Given the description of an element on the screen output the (x, y) to click on. 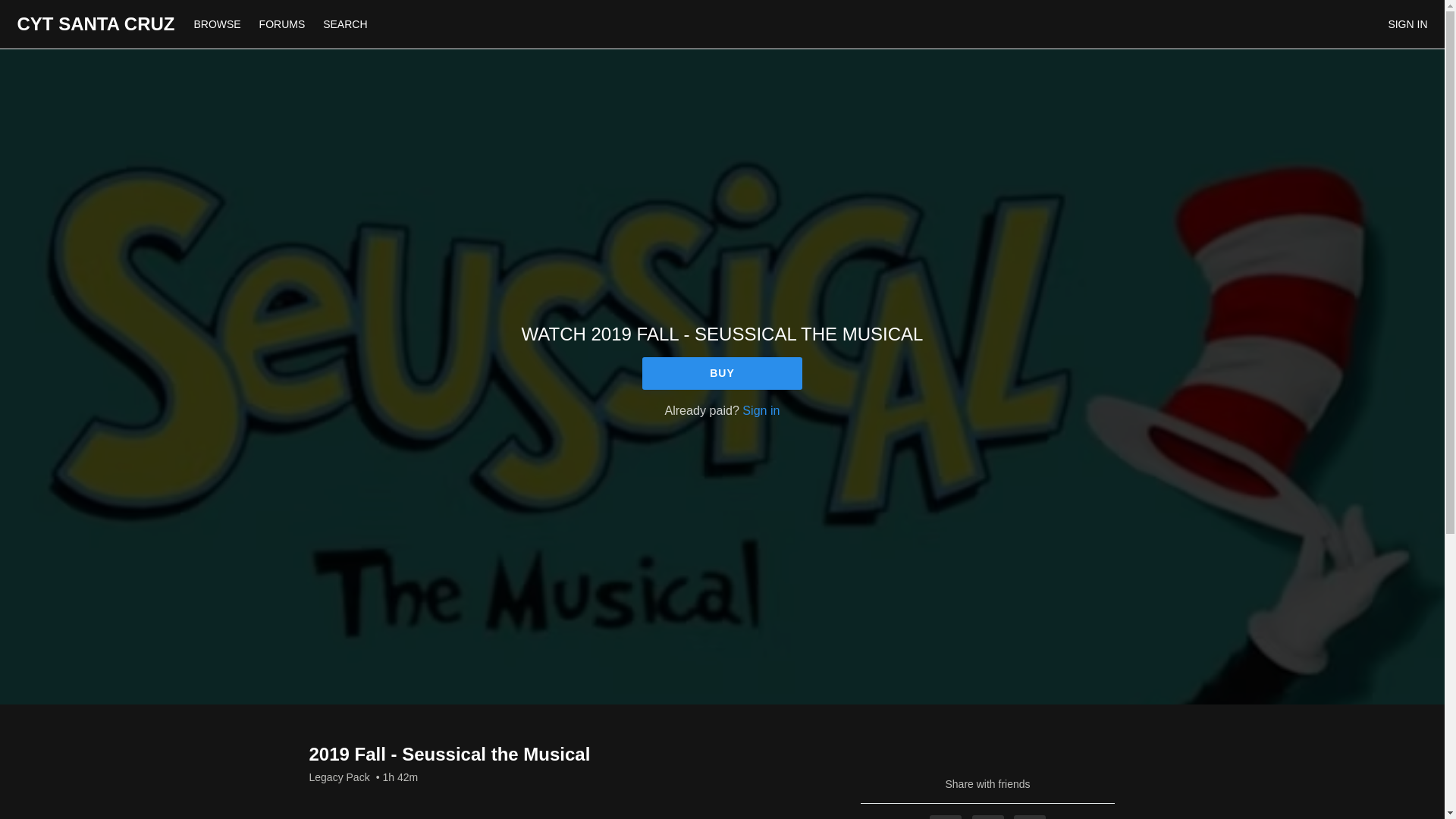
Legacy Pack (338, 776)
BROWSE (218, 24)
SEARCH (344, 24)
CYT SANTA CRUZ (95, 24)
Sign in (760, 409)
SIGN IN (1406, 24)
Skip to main content (48, 7)
BUY (722, 373)
Facebook (945, 816)
Email (1029, 816)
FORUMS (283, 24)
Twitter (988, 816)
